Given the description of an element on the screen output the (x, y) to click on. 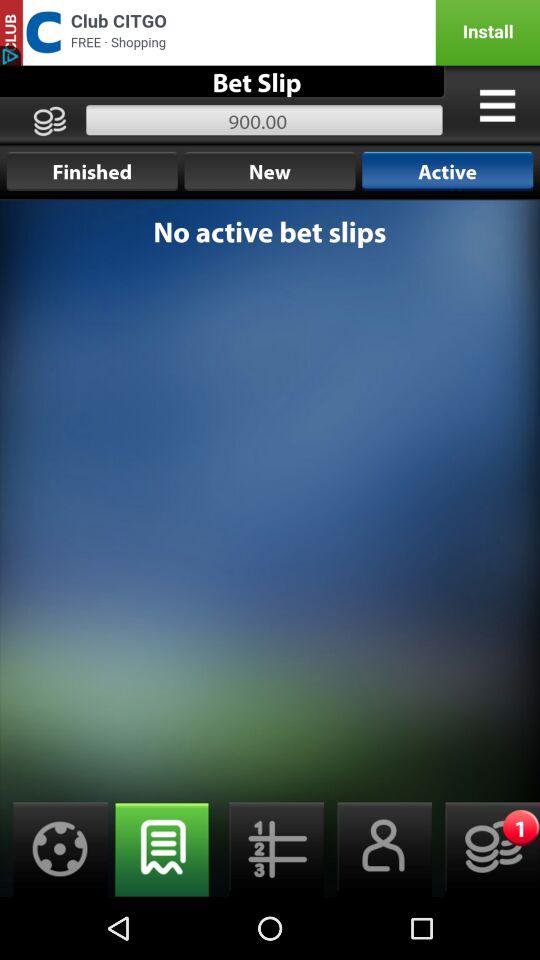
go to menu (497, 105)
